Given the description of an element on the screen output the (x, y) to click on. 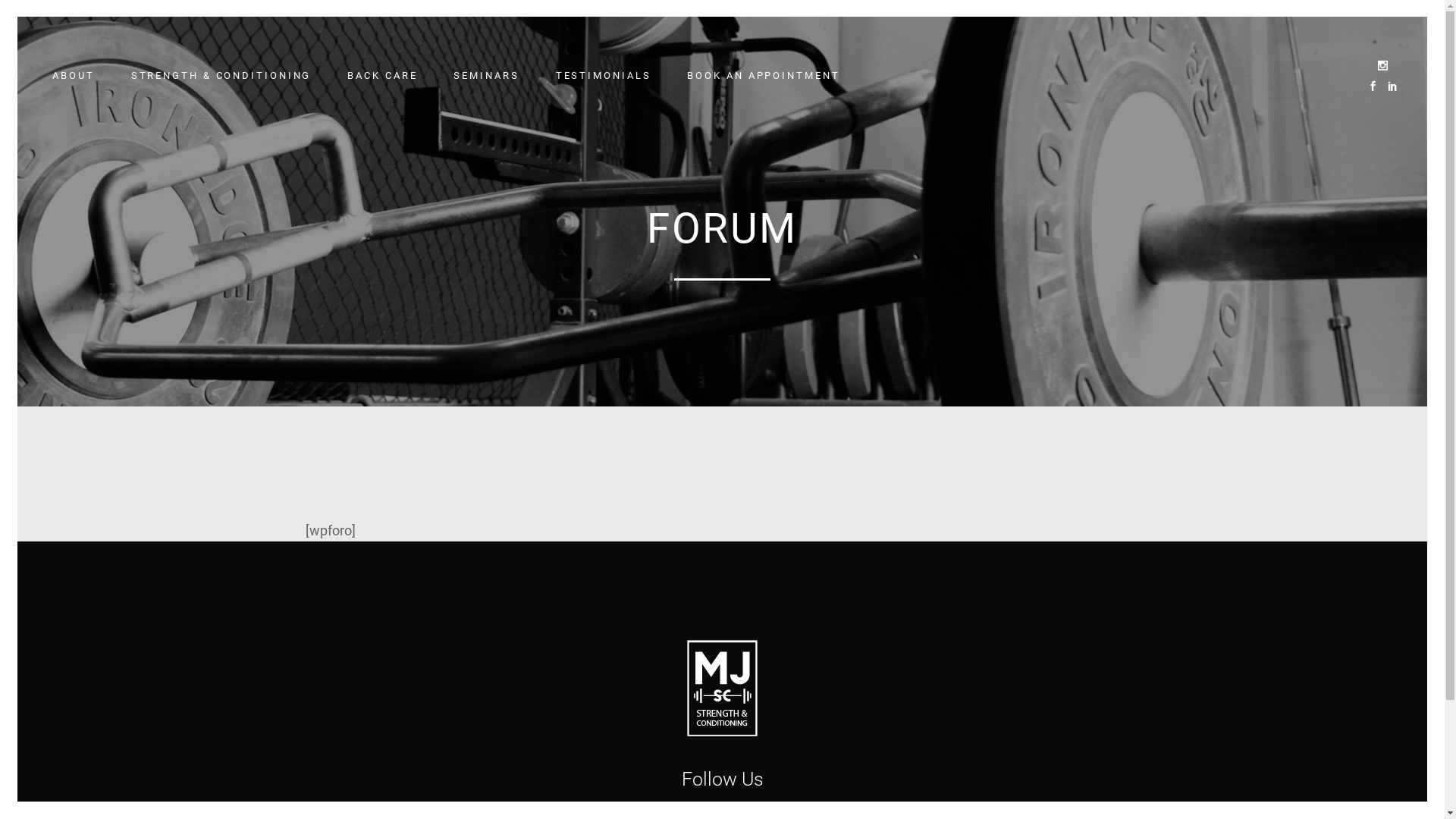
TESTIMONIALS Element type: text (603, 75)
BACK CARE Element type: text (382, 75)
BOOK AN APPOINTMENT Element type: text (762, 75)
STRENGTH & CONDITIONING Element type: text (220, 75)
ABOUT Element type: text (73, 75)
SEMINARS Element type: text (485, 75)
